Given the description of an element on the screen output the (x, y) to click on. 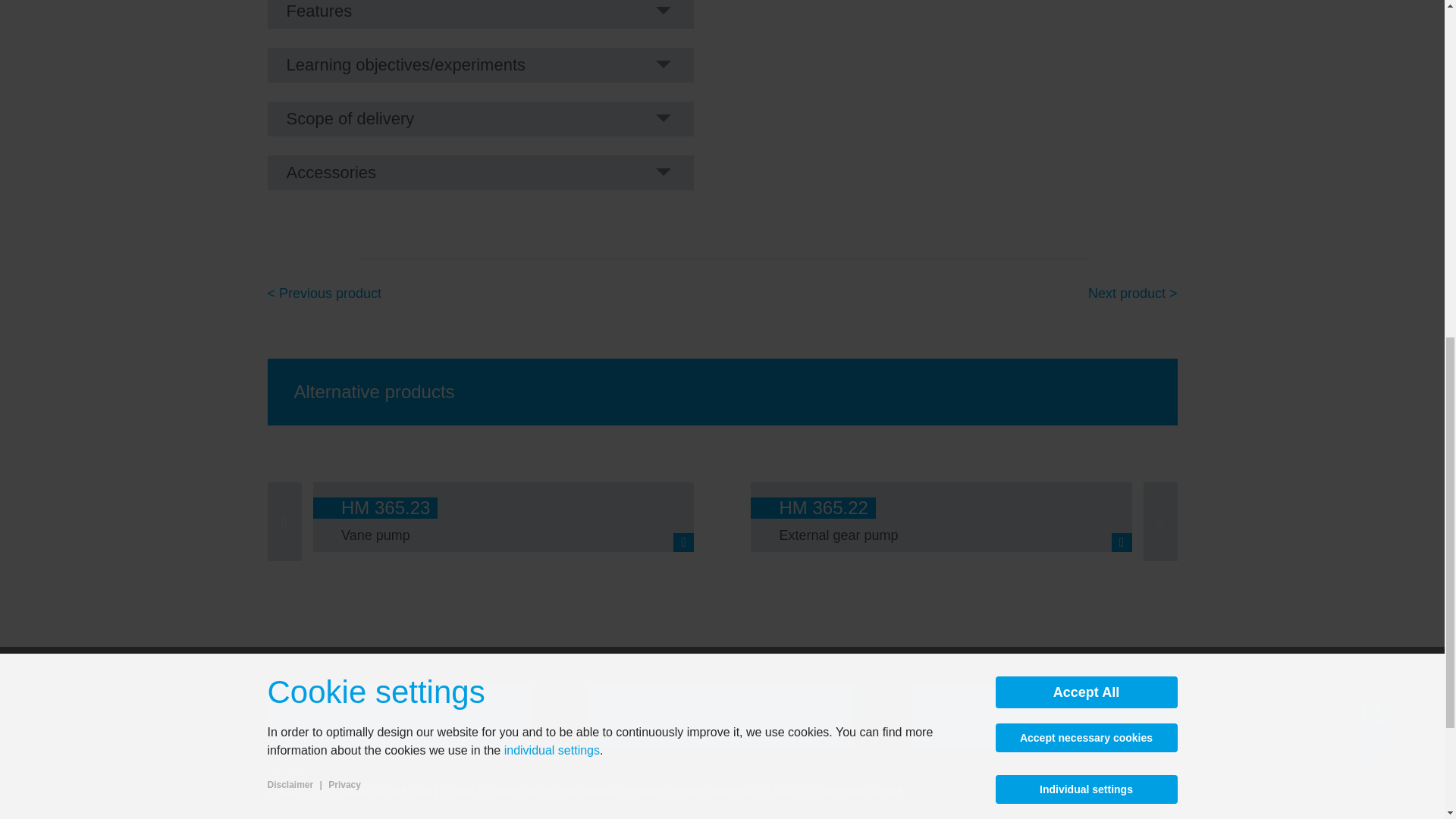
Screw pump (378, 534)
Vane pump (375, 534)
External gear pump (838, 534)
